Given the description of an element on the screen output the (x, y) to click on. 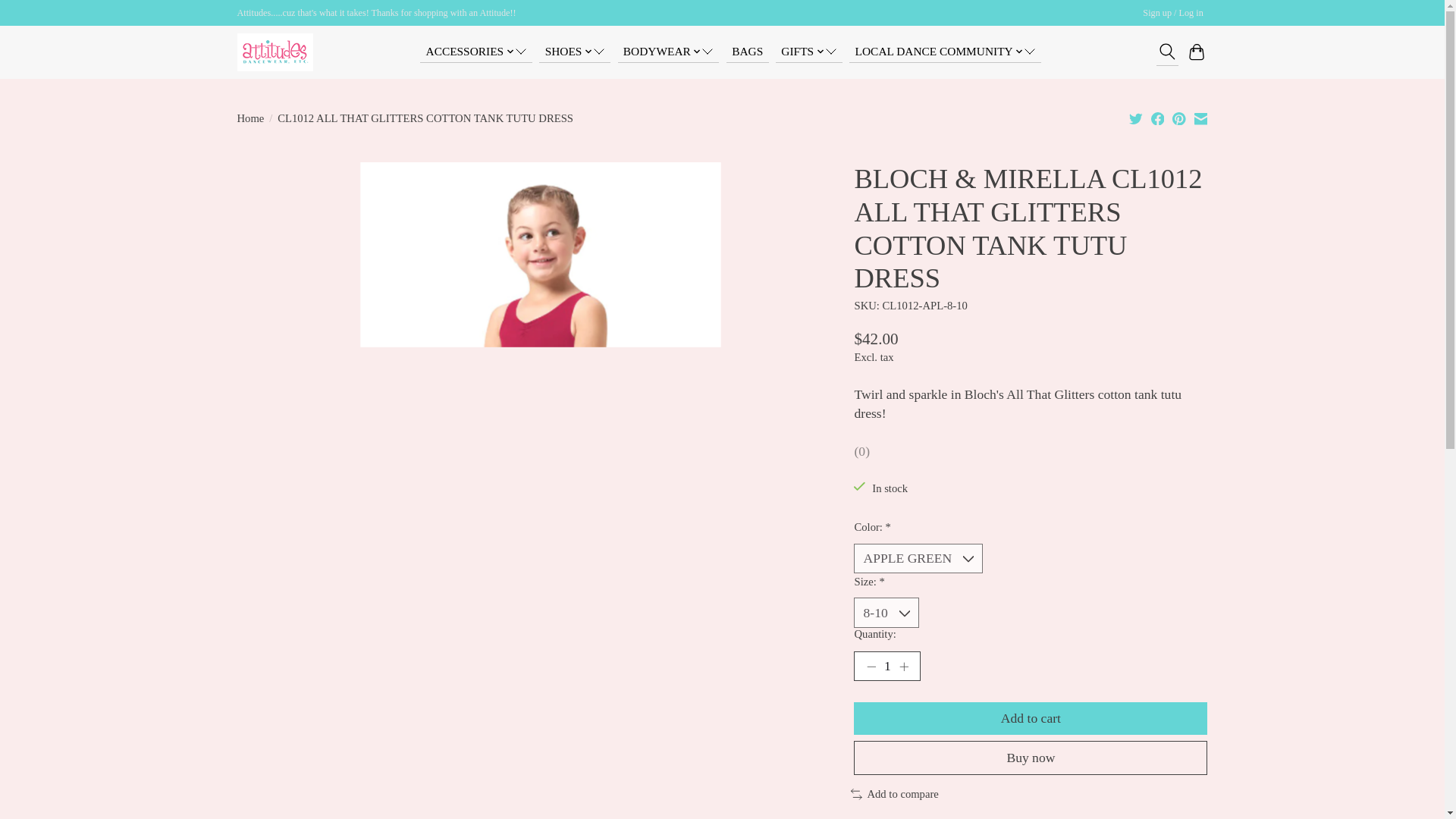
1 (886, 666)
My account (1173, 13)
BODYWEAR (668, 51)
Share on Twitter (1135, 118)
Share by Email (1200, 118)
Share on Facebook (1157, 118)
Share on Pinterest (1178, 118)
Attitudes Dancewear Etc. (274, 51)
SHOES (574, 51)
ACCESSORIES (475, 51)
